Given the description of an element on the screen output the (x, y) to click on. 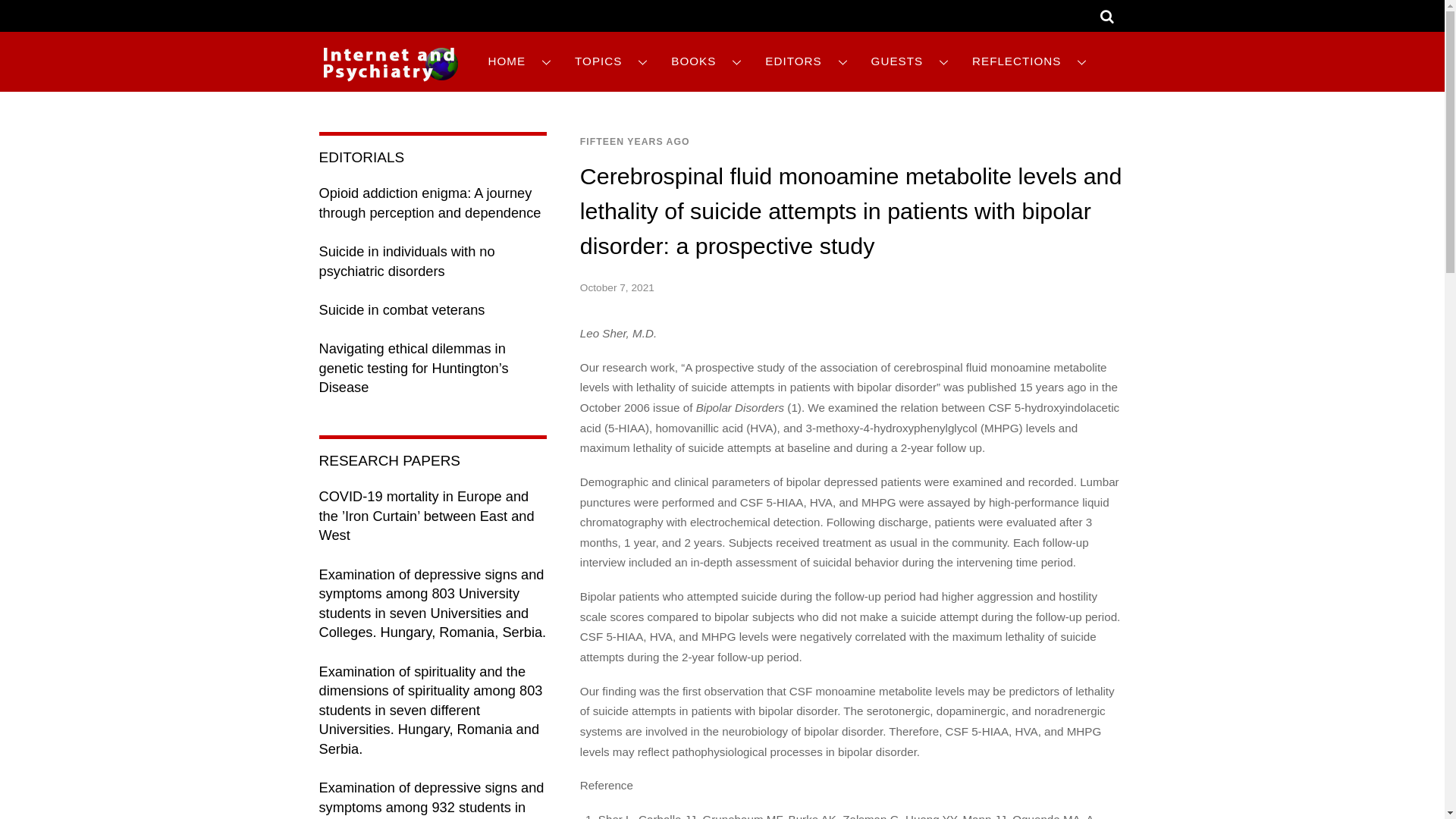
TOPICS (611, 61)
Internet and Psychiatry (389, 63)
HOME (519, 61)
EDITORS (806, 61)
BOOKS (706, 61)
